Given the description of an element on the screen output the (x, y) to click on. 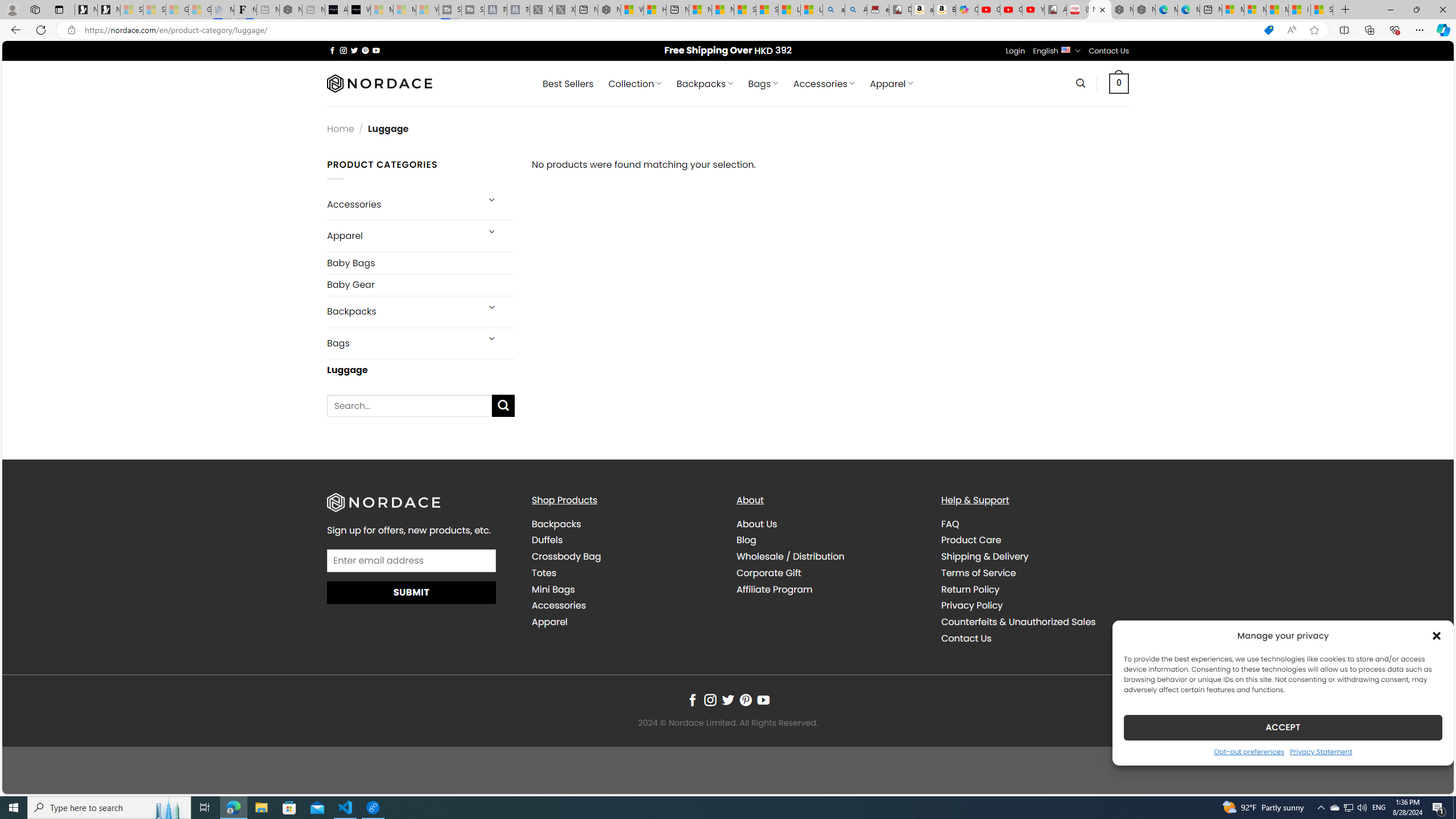
 0  (1118, 83)
Copilot (966, 9)
Affiliate Program (774, 589)
This site has coupons! Shopping in Microsoft Edge (1268, 29)
AutomationID: field_4_1 (411, 561)
Counterfeits & Unauthorized Sales (1034, 622)
Follow on YouTube (763, 700)
Opt-out preferences (1249, 750)
Nordace - Luggage (1099, 9)
